Given the description of an element on the screen output the (x, y) to click on. 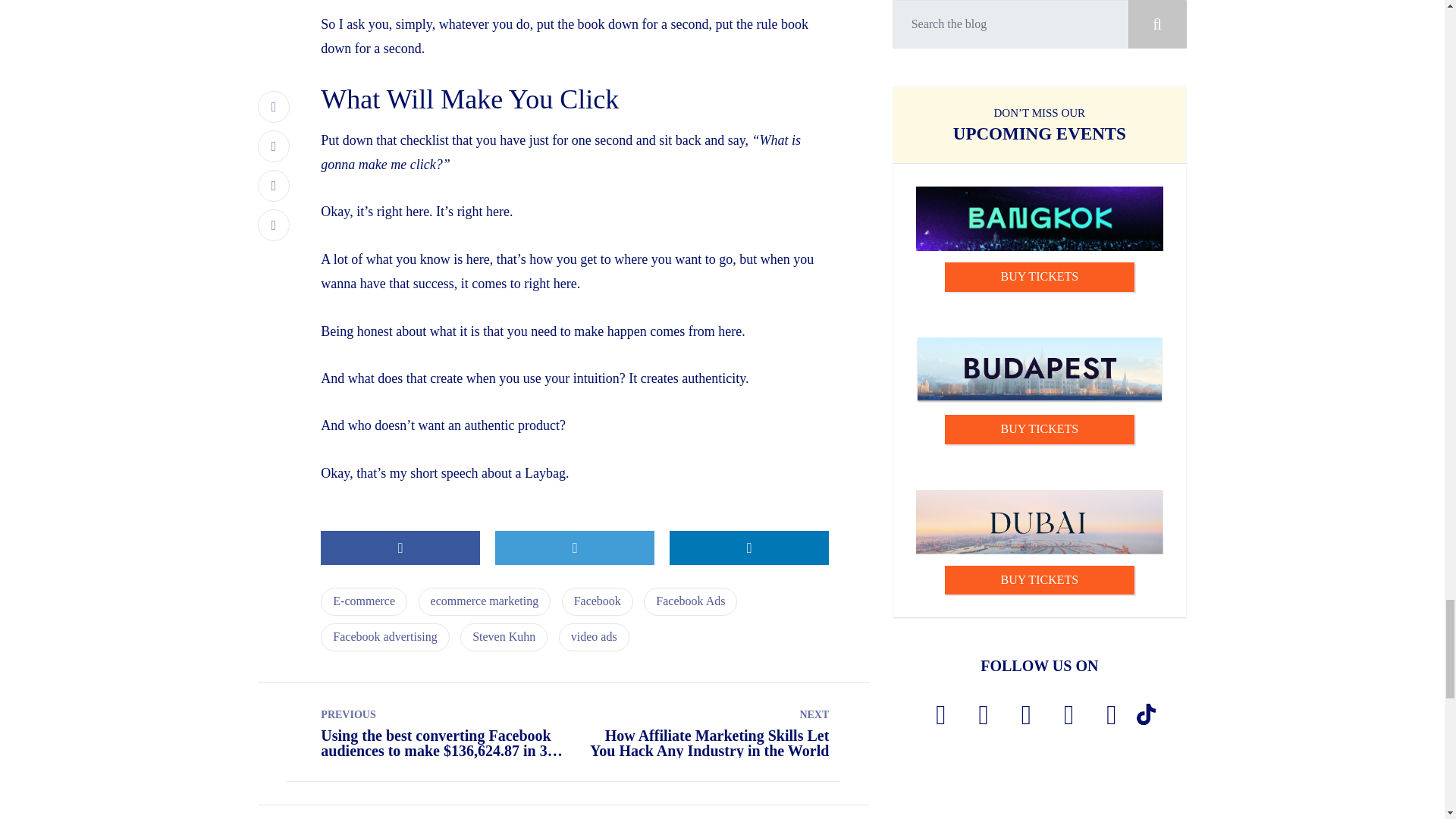
Facebook (597, 601)
ecommerce marketing (485, 601)
Facebook Ads (689, 601)
video ads (593, 637)
Facebook advertising (384, 637)
E-commerce (363, 601)
Steven Kuhn (503, 637)
